Given the description of an element on the screen output the (x, y) to click on. 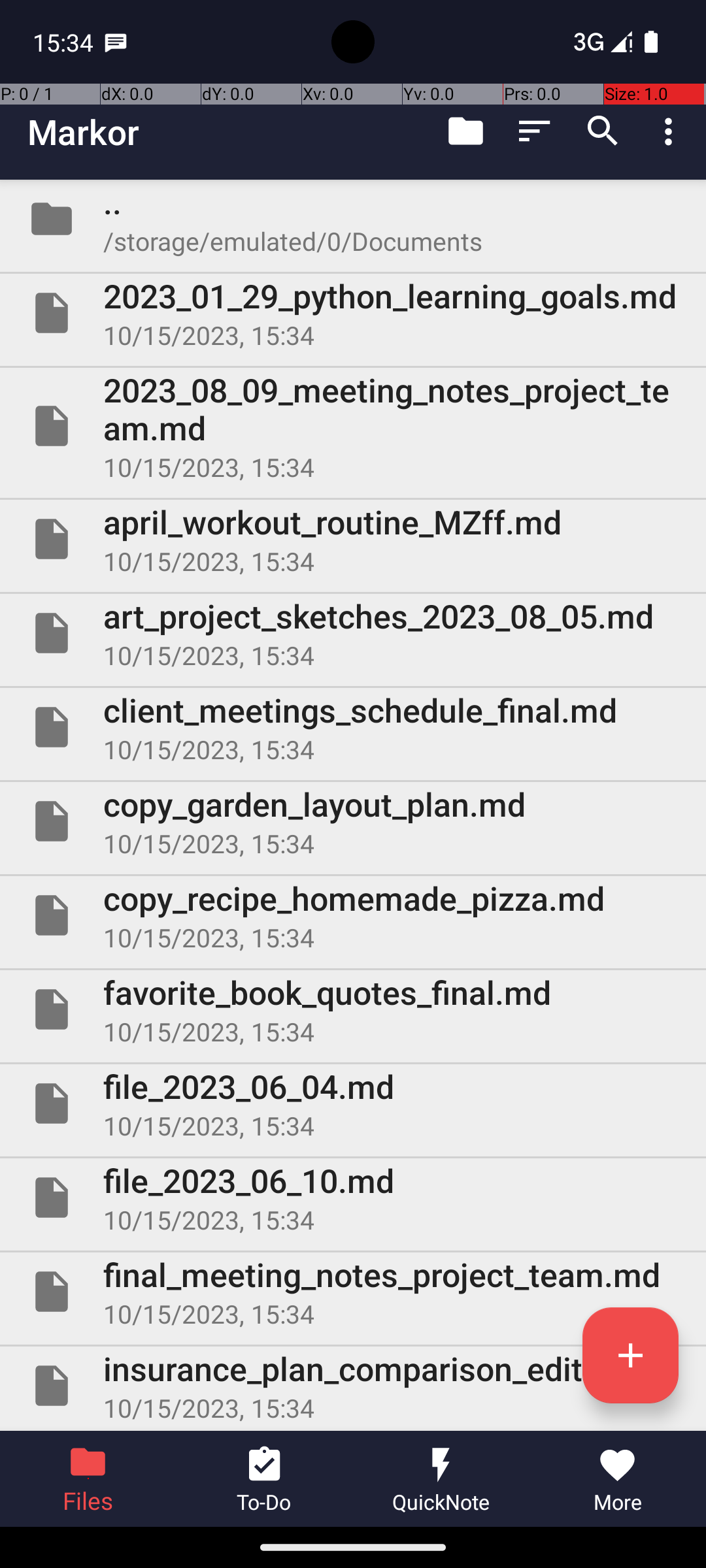
File 2023_01_29_python_learning_goals.md  Element type: android.widget.LinearLayout (353, 312)
File 2023_08_09_meeting_notes_project_team.md  Element type: android.widget.LinearLayout (353, 425)
File april_workout_routine_MZff.md  Element type: android.widget.LinearLayout (353, 538)
File art_project_sketches_2023_08_05.md  Element type: android.widget.LinearLayout (353, 632)
File client_meetings_schedule_final.md  Element type: android.widget.LinearLayout (353, 726)
File copy_garden_layout_plan.md  Element type: android.widget.LinearLayout (353, 821)
File copy_recipe_homemade_pizza.md  Element type: android.widget.LinearLayout (353, 915)
File favorite_book_quotes_final.md  Element type: android.widget.LinearLayout (353, 1009)
File file_2023_06_04.md  Element type: android.widget.LinearLayout (353, 1103)
File file_2023_06_10.md  Element type: android.widget.LinearLayout (353, 1197)
File final_meeting_notes_project_team.md  Element type: android.widget.LinearLayout (353, 1291)
File insurance_plan_comparison_edited.md  Element type: android.widget.LinearLayout (353, 1385)
